Given the description of an element on the screen output the (x, y) to click on. 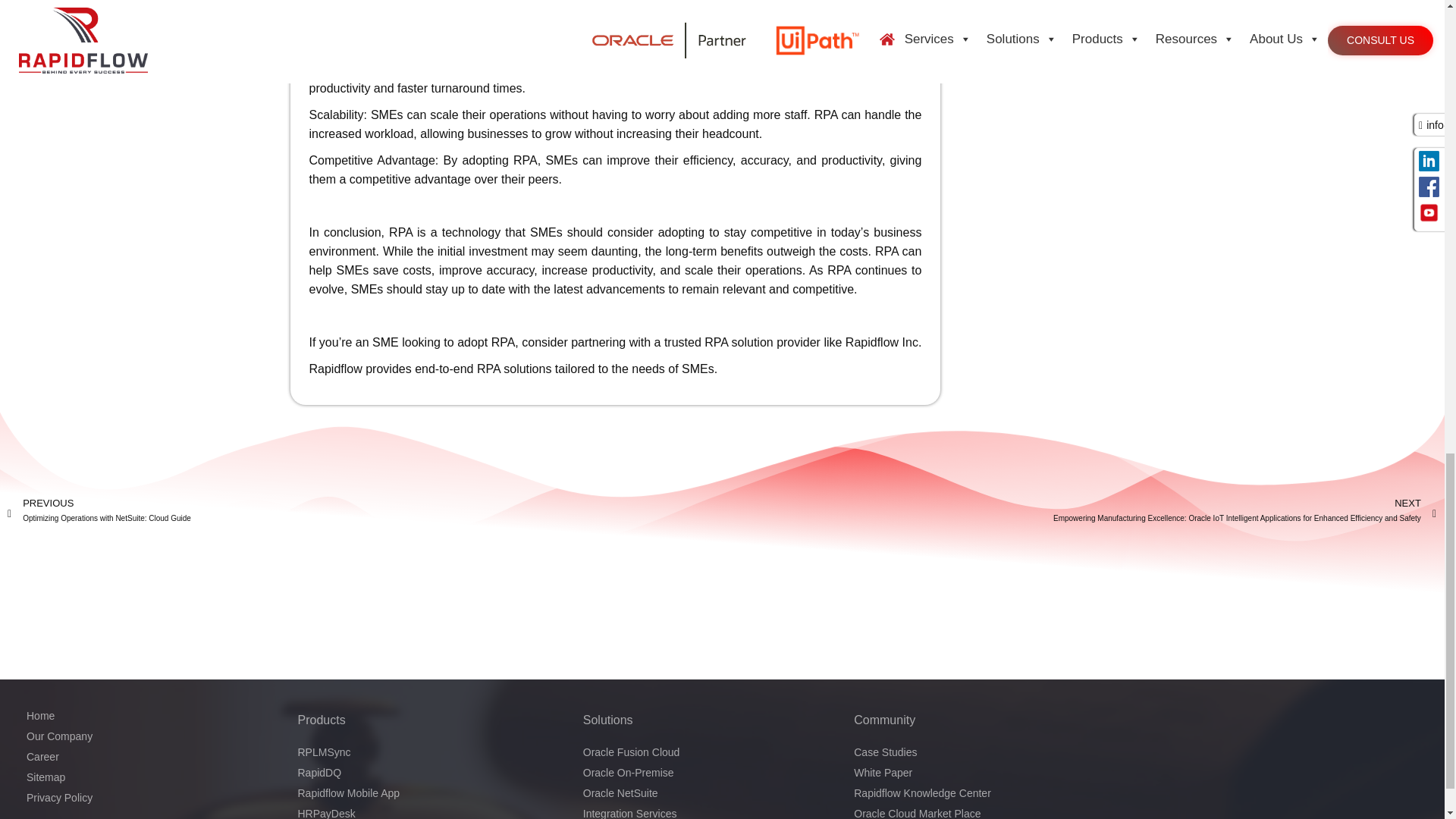
Rapidflow Inc (881, 341)
